Given the description of an element on the screen output the (x, y) to click on. 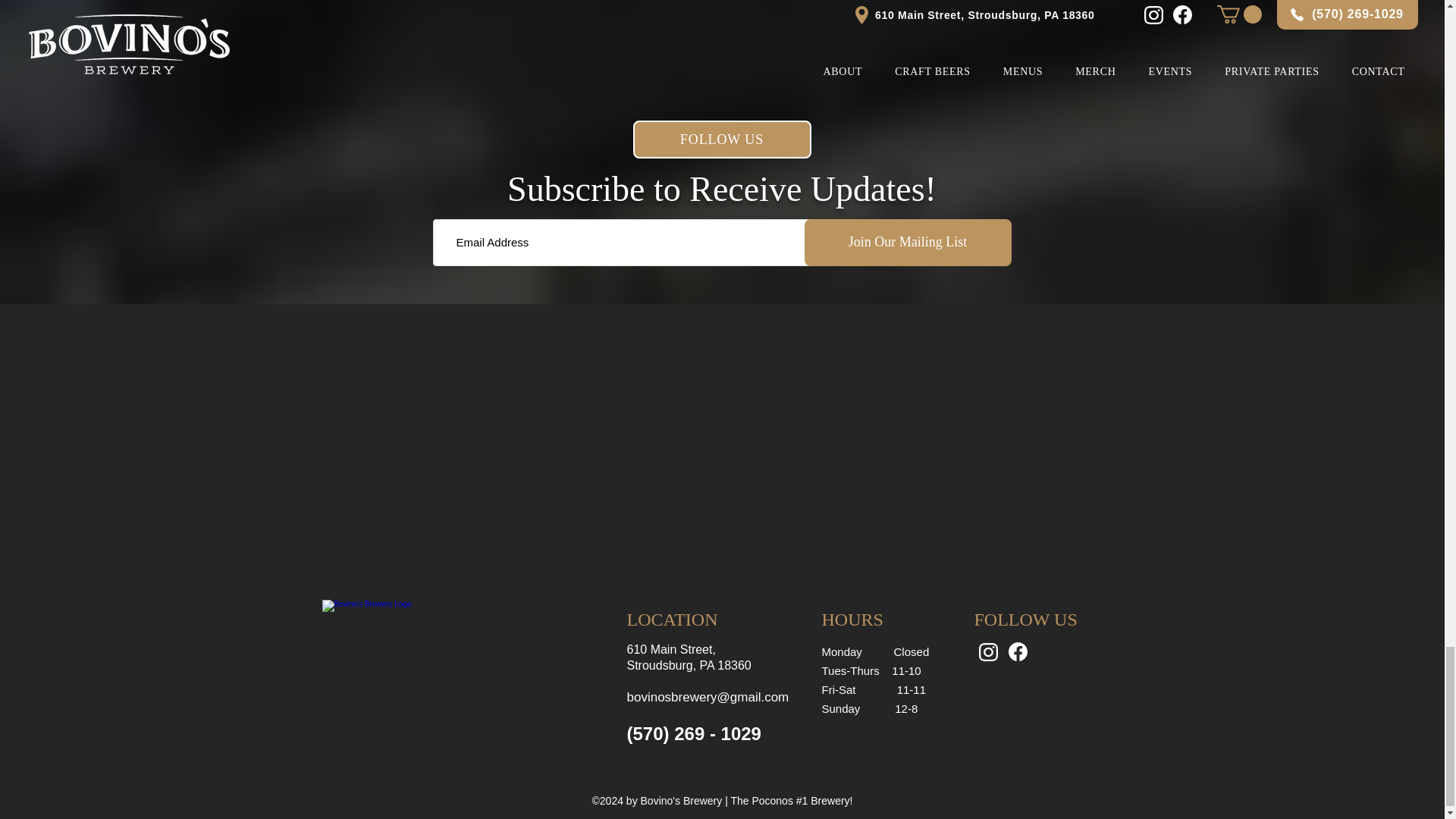
FOLLOW US (720, 139)
Join Our Mailing List (906, 242)
